Given the description of an element on the screen output the (x, y) to click on. 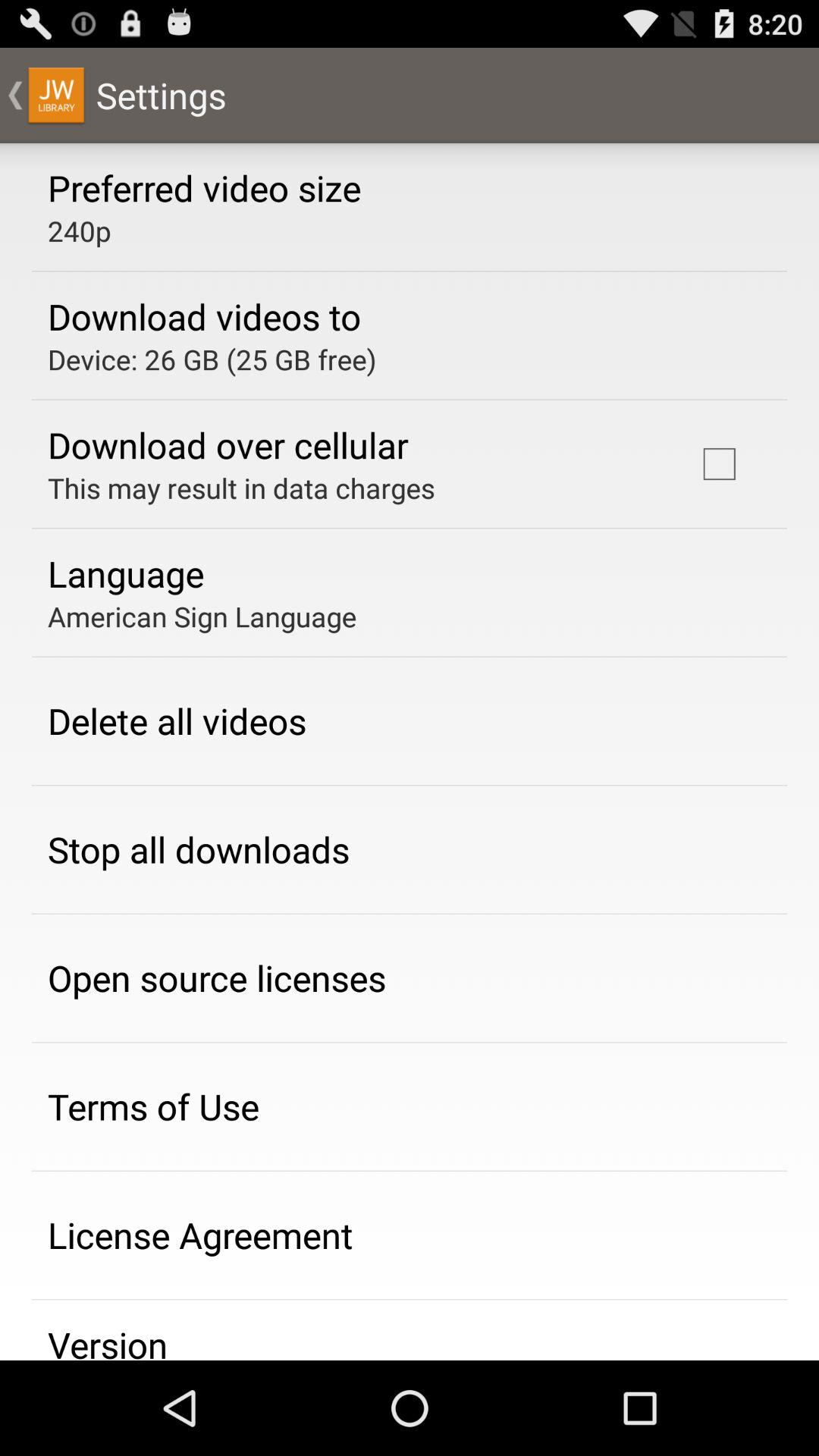
swipe until open source licenses item (216, 977)
